Given the description of an element on the screen output the (x, y) to click on. 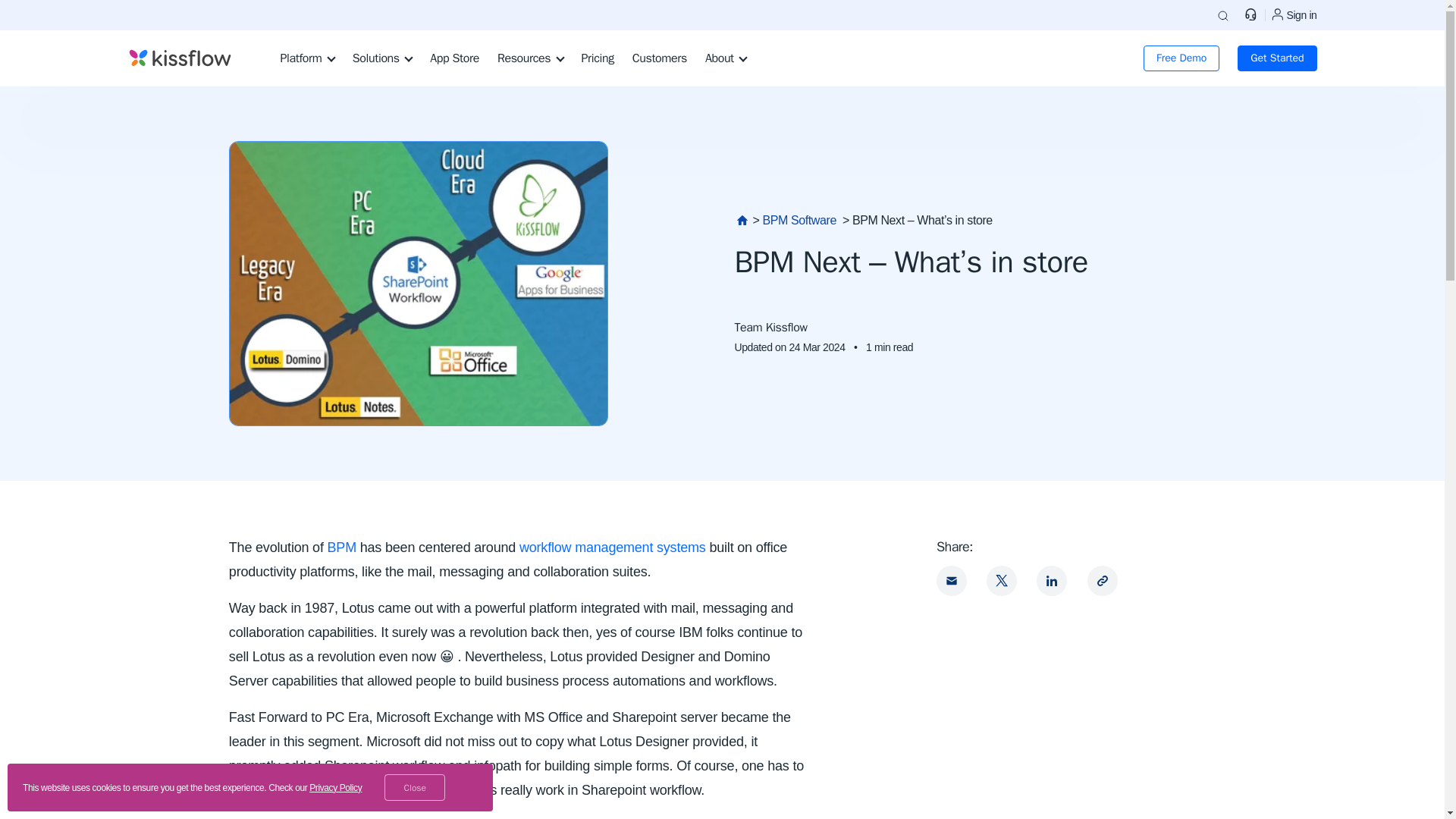
Platform (316, 58)
Sign in (1292, 15)
Solutions (390, 58)
